Given the description of an element on the screen output the (x, y) to click on. 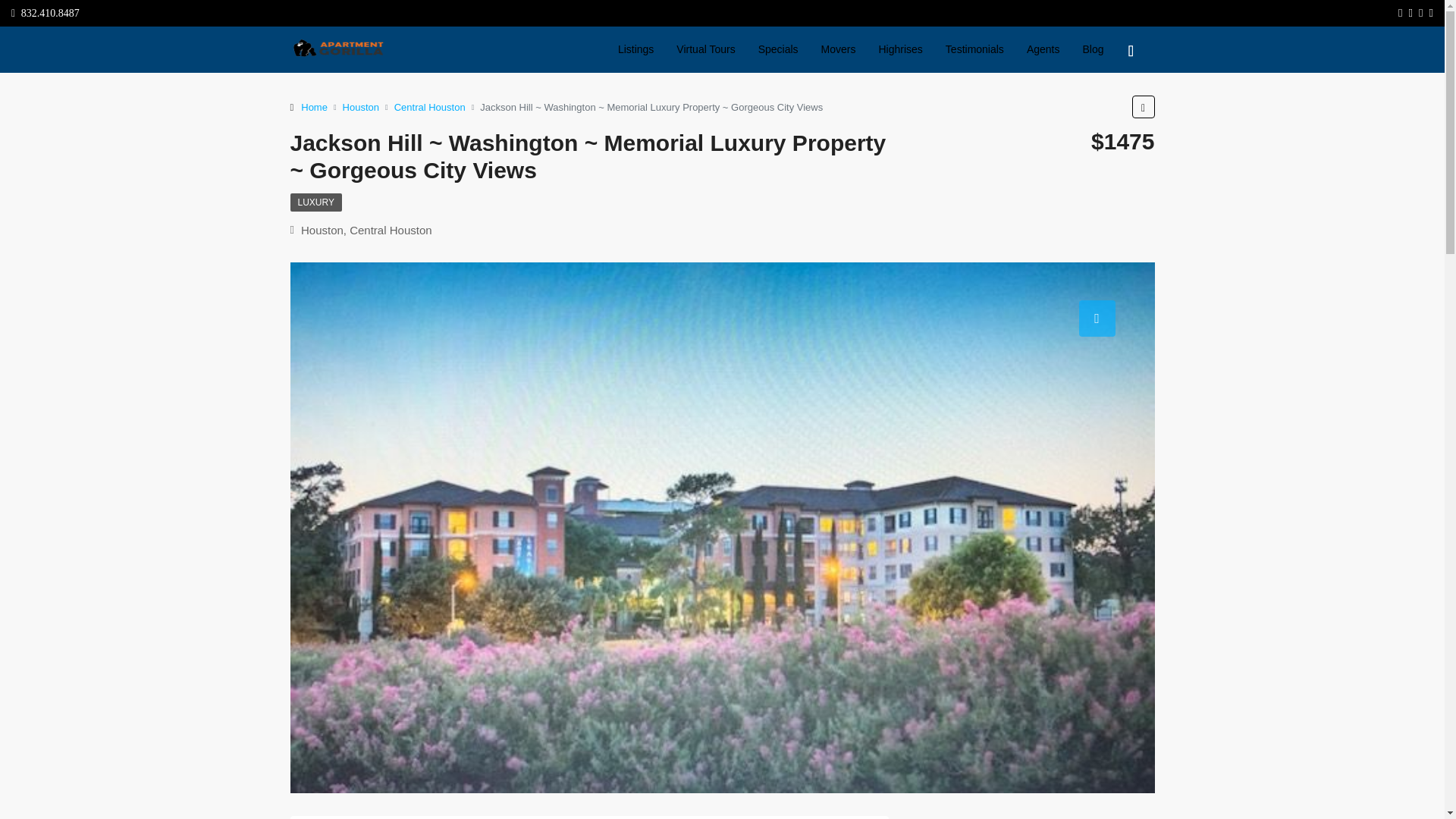
Blog (1092, 49)
Movers (838, 49)
Agents (1042, 49)
Highrises (899, 49)
Home (314, 106)
Testimonials (974, 49)
832.410.8487 (45, 12)
Houston (360, 106)
Virtual Tours (705, 49)
Central Houston (429, 106)
